Given the description of an element on the screen output the (x, y) to click on. 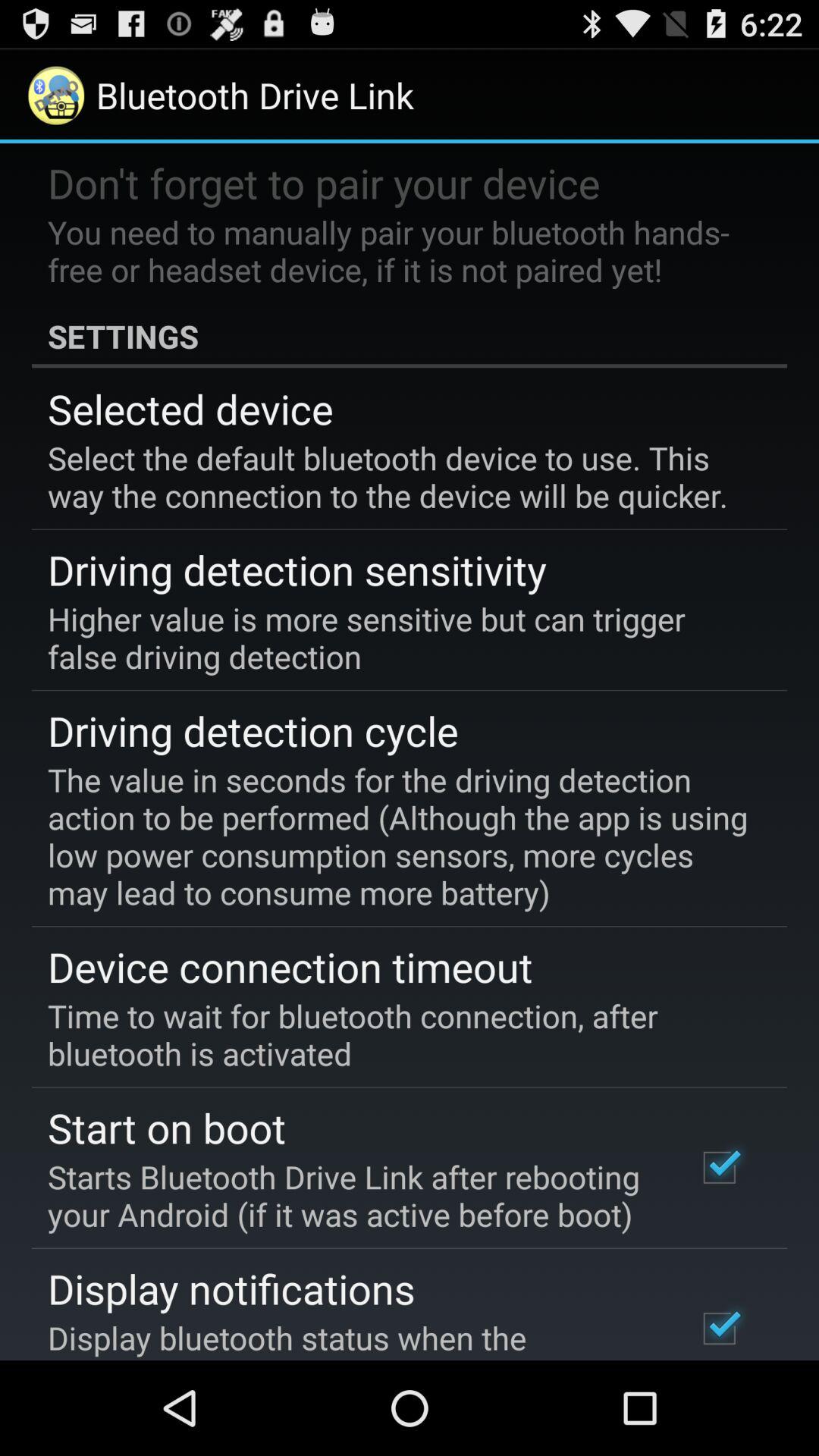
launch the item above device connection timeout icon (399, 835)
